Given the description of an element on the screen output the (x, y) to click on. 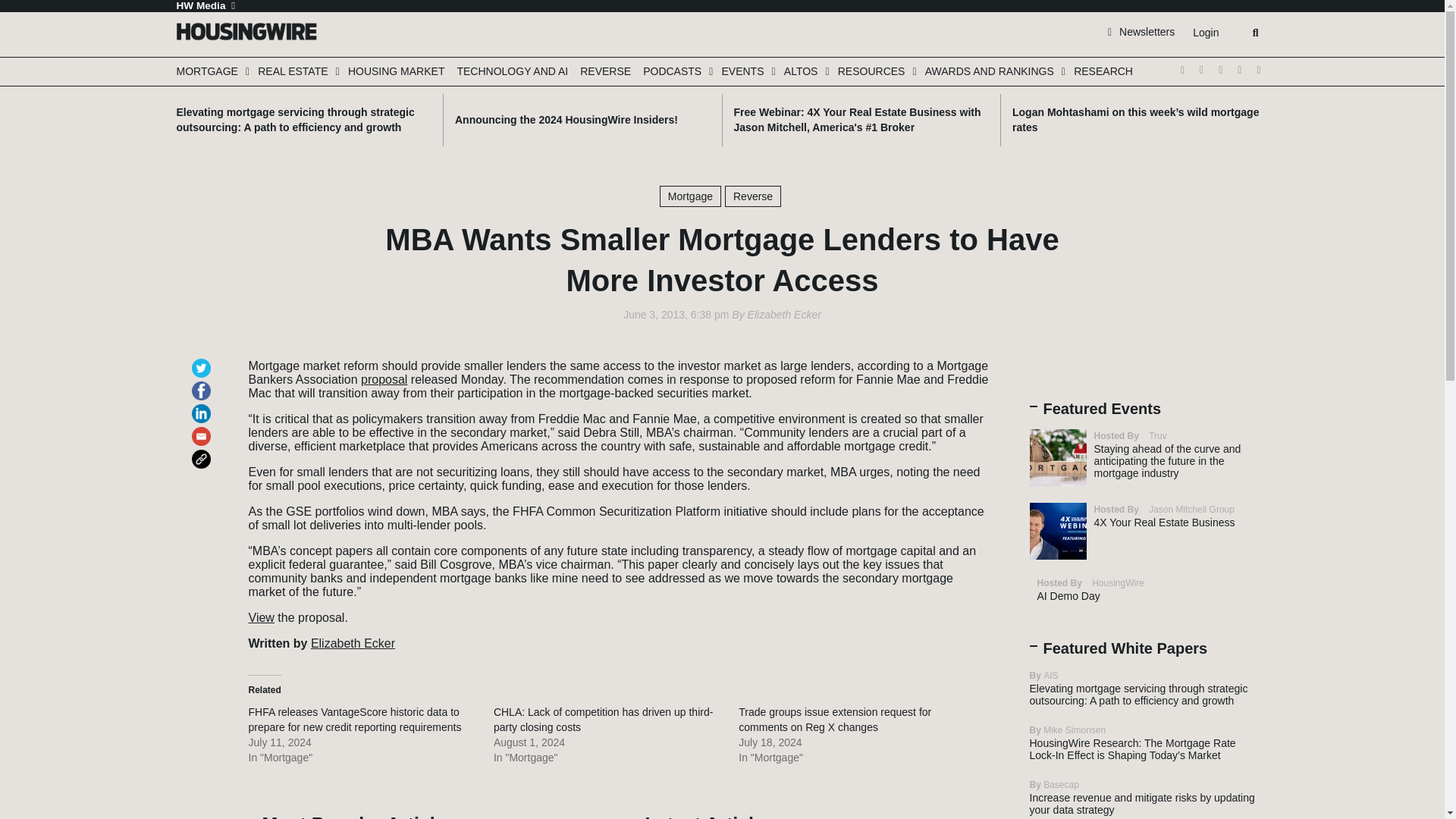
Click to share on Facebook (203, 383)
Click to share on LinkedIn (203, 406)
Newsletters (1141, 31)
Posts by Elizabeth Ecker (784, 314)
Login (1205, 32)
Click to email a link to a friend (203, 429)
Click to copy link (203, 452)
Click to share on Twitter (203, 360)
